Given the description of an element on the screen output the (x, y) to click on. 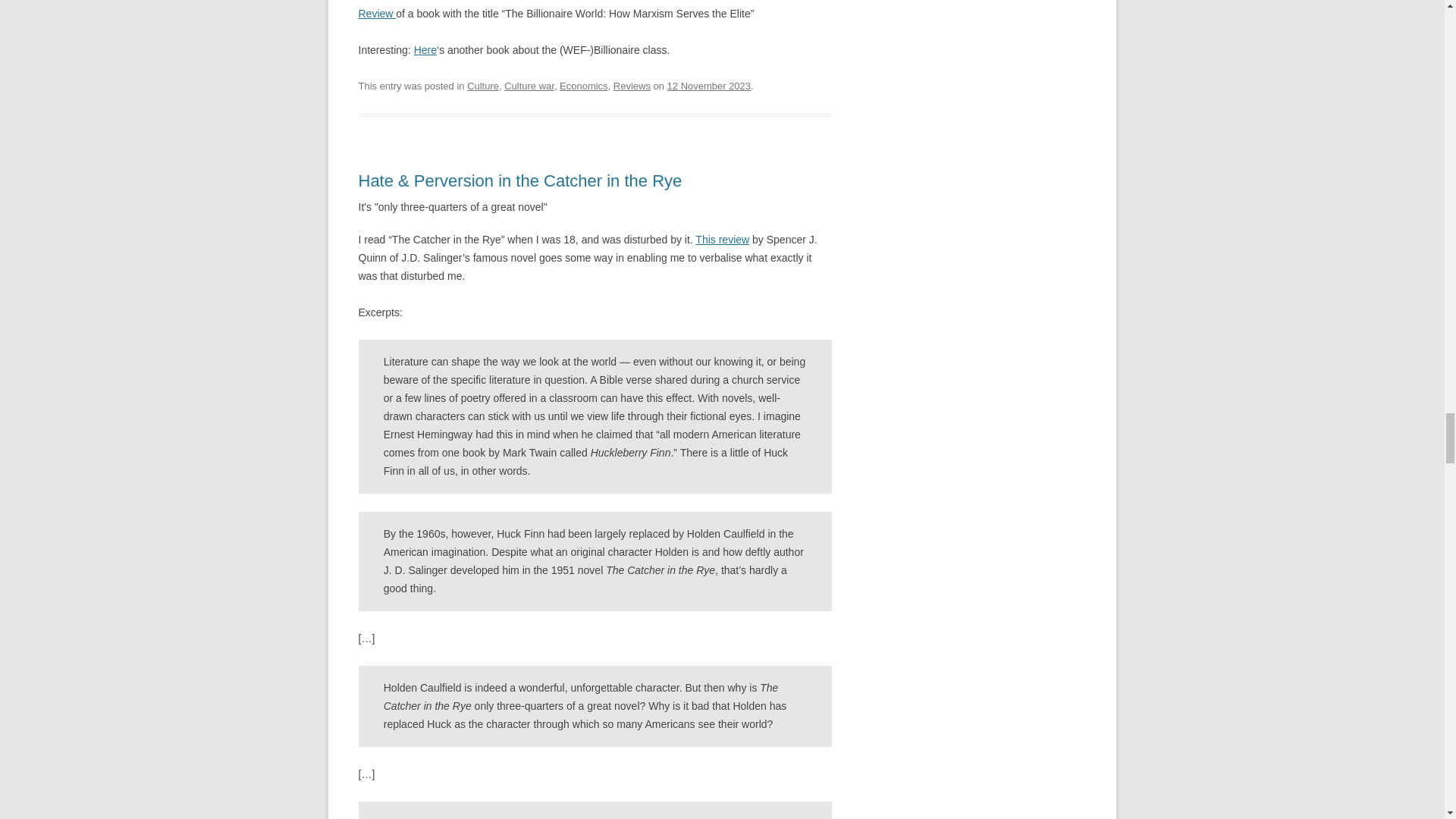
Culture (483, 85)
This review (722, 239)
Reviews (631, 85)
Economics (583, 85)
Review (377, 13)
Here (424, 50)
9:08 pm (708, 85)
12 November 2023 (708, 85)
Culture war (528, 85)
